Given the description of an element on the screen output the (x, y) to click on. 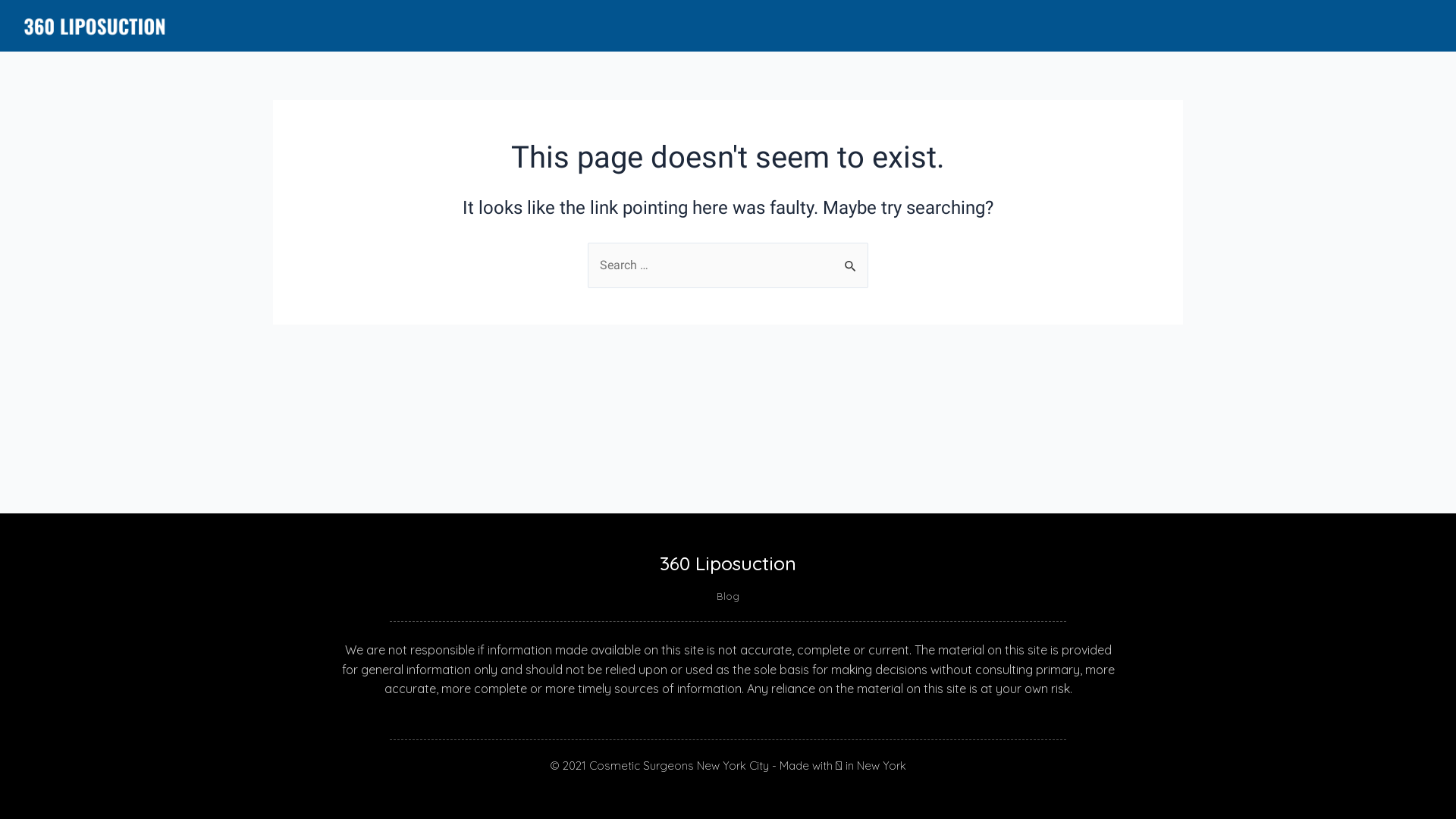
360 Liposuction Element type: text (727, 562)
Blog Element type: text (727, 596)
Search Element type: text (851, 258)
